Given the description of an element on the screen output the (x, y) to click on. 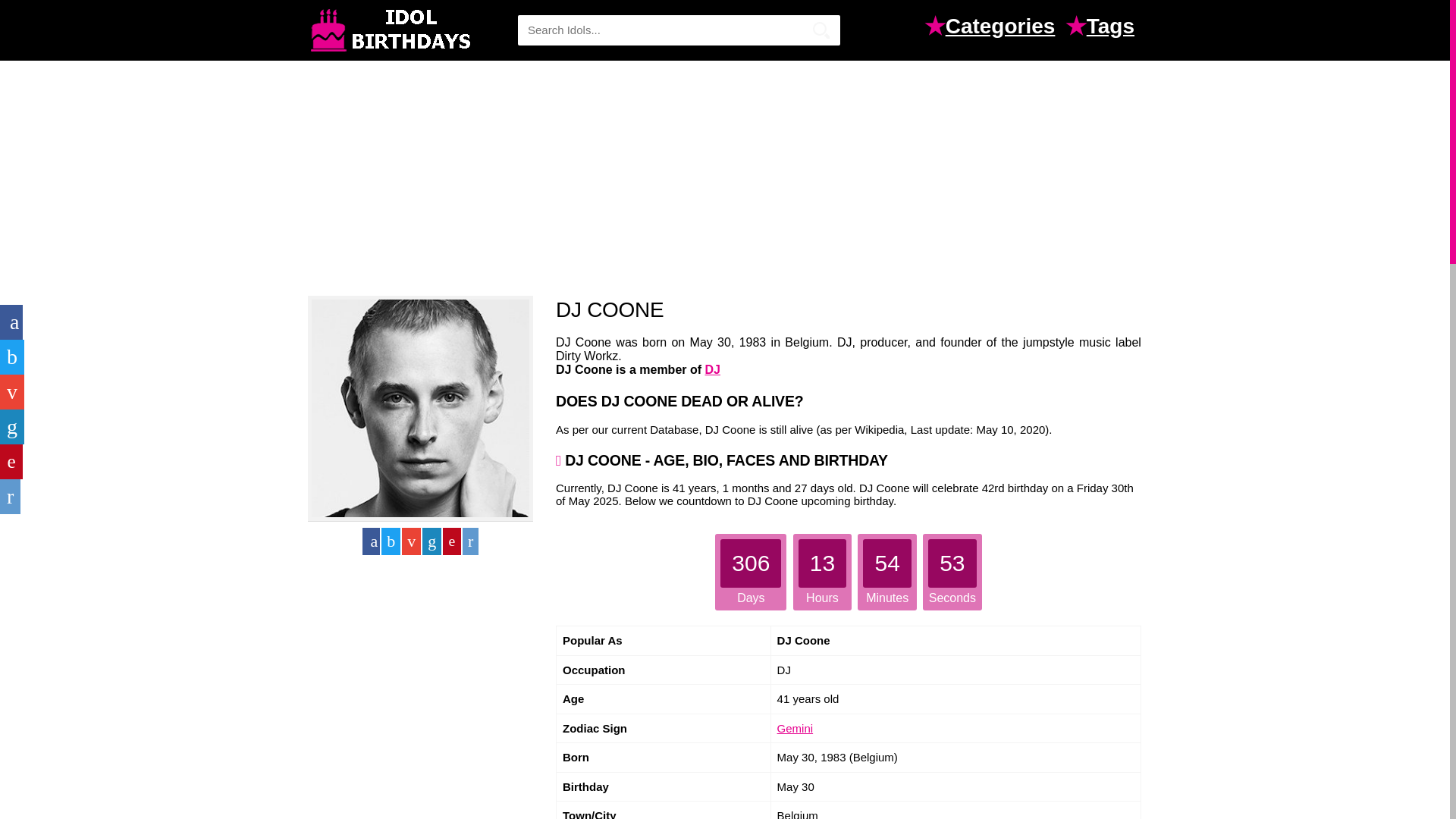
Tags (1113, 28)
SEARCH (820, 30)
DJ Coone (420, 407)
Categories (1003, 28)
Tags (1113, 28)
Advertisement (419, 690)
